Given the description of an element on the screen output the (x, y) to click on. 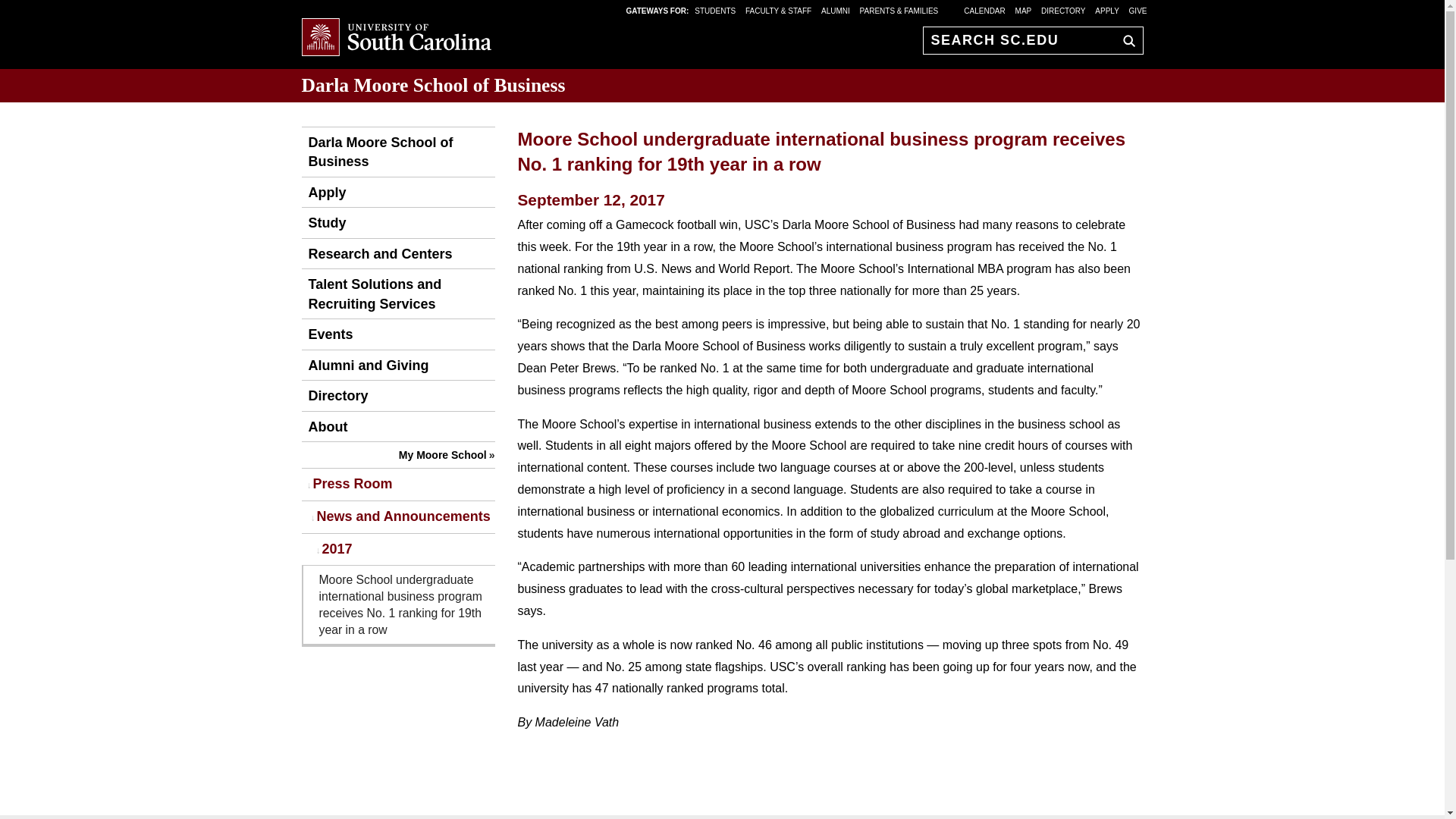
Alumni and Giving (365, 365)
Darla Moore School of Business  (398, 151)
DIRECTORY (1063, 9)
GIVE (1138, 9)
University of South Carolina Home (396, 38)
sc.edu Search (1125, 40)
STUDENTS (716, 9)
APPLY (1106, 9)
CALENDAR (983, 9)
GO (1125, 40)
